Given the description of an element on the screen output the (x, y) to click on. 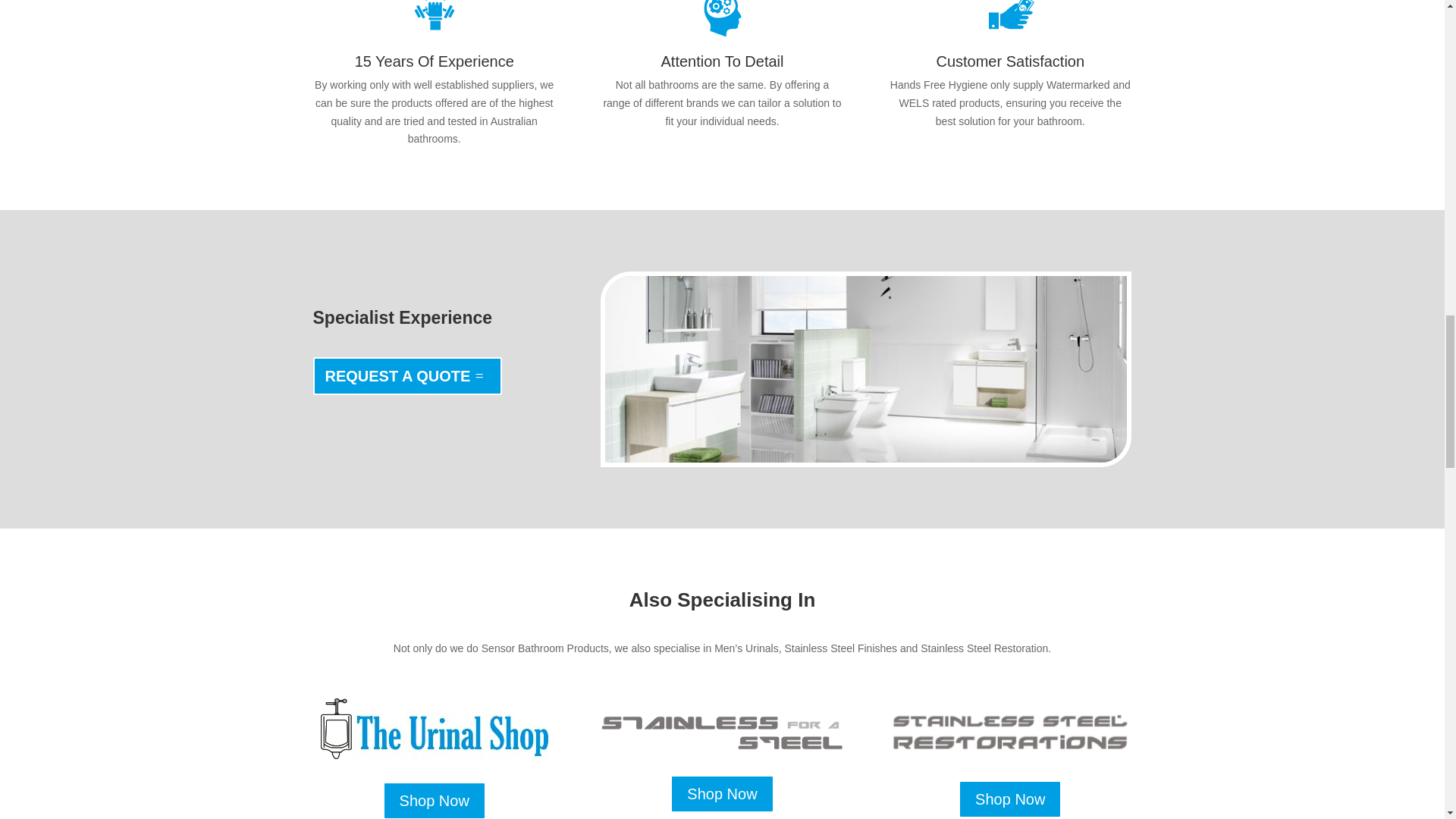
Stainless-for-a-Steel (721, 732)
The Urinal Shop Logo (434, 728)
Stainless Steel Restorations (1009, 733)
